Given the description of an element on the screen output the (x, y) to click on. 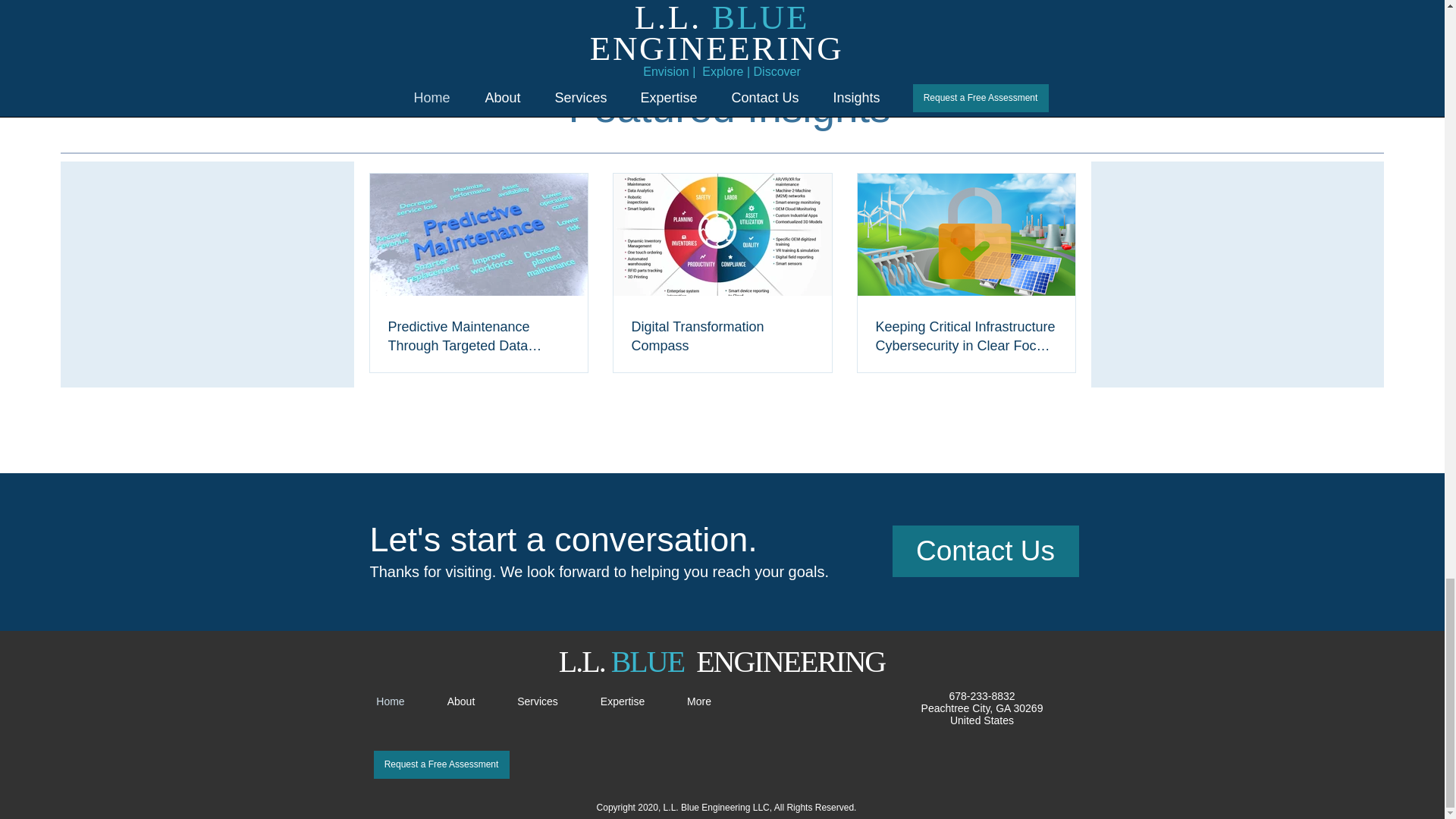
L.L. (585, 661)
About (461, 701)
Expertise (622, 701)
Home (390, 701)
Digital Transformation Compass (721, 336)
Request a Free Assessment (440, 764)
Predictive Maintenance Through Targeted Data Analytics (478, 336)
Contact Us (984, 551)
